Given the description of an element on the screen output the (x, y) to click on. 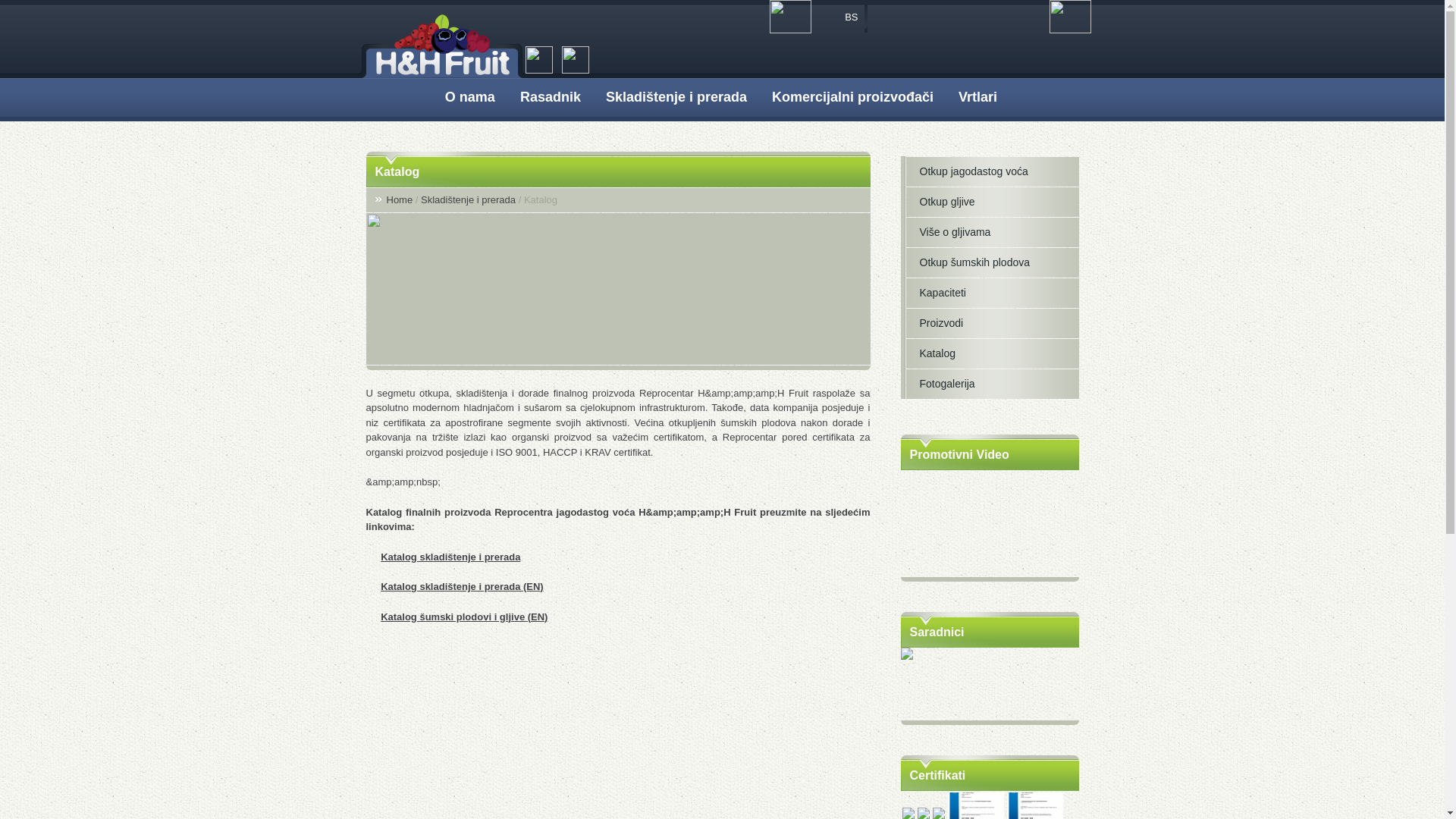
Otkup gljive Element type: text (978, 201)
Vrtlari Element type: text (978, 99)
Home Element type: text (399, 199)
ico_pdf Element type: hover (371, 587)
O nama Element type: text (470, 99)
Kapaciteti Element type: text (978, 292)
Katalog Element type: text (978, 353)
Fotogalerija Element type: text (978, 383)
ico_pdf Element type: hover (371, 557)
Proizvodi Element type: text (978, 323)
Rasadnik Element type: text (551, 99)
BS Element type: text (842, 17)
ico_pdf Element type: hover (371, 617)
ppf_logo Element type: hover (989, 683)
